Given the description of an element on the screen output the (x, y) to click on. 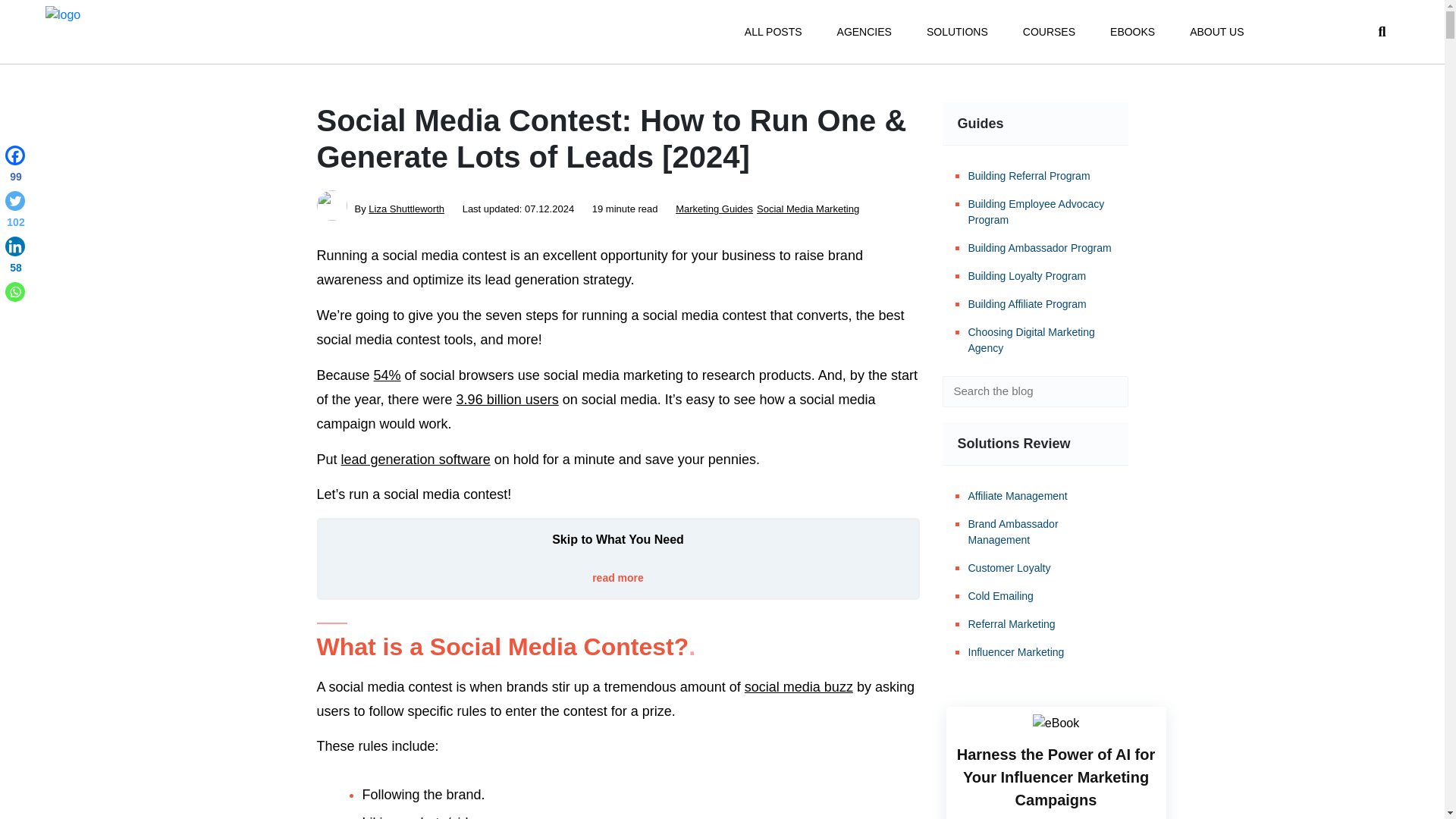
Search (1105, 391)
ALL POSTS (772, 31)
Twitter (14, 211)
AGENCIES (864, 31)
Linkedin (14, 257)
Whatsapp (14, 291)
Search (1105, 391)
SOLUTIONS (957, 31)
Facebook (14, 166)
